Given the description of an element on the screen output the (x, y) to click on. 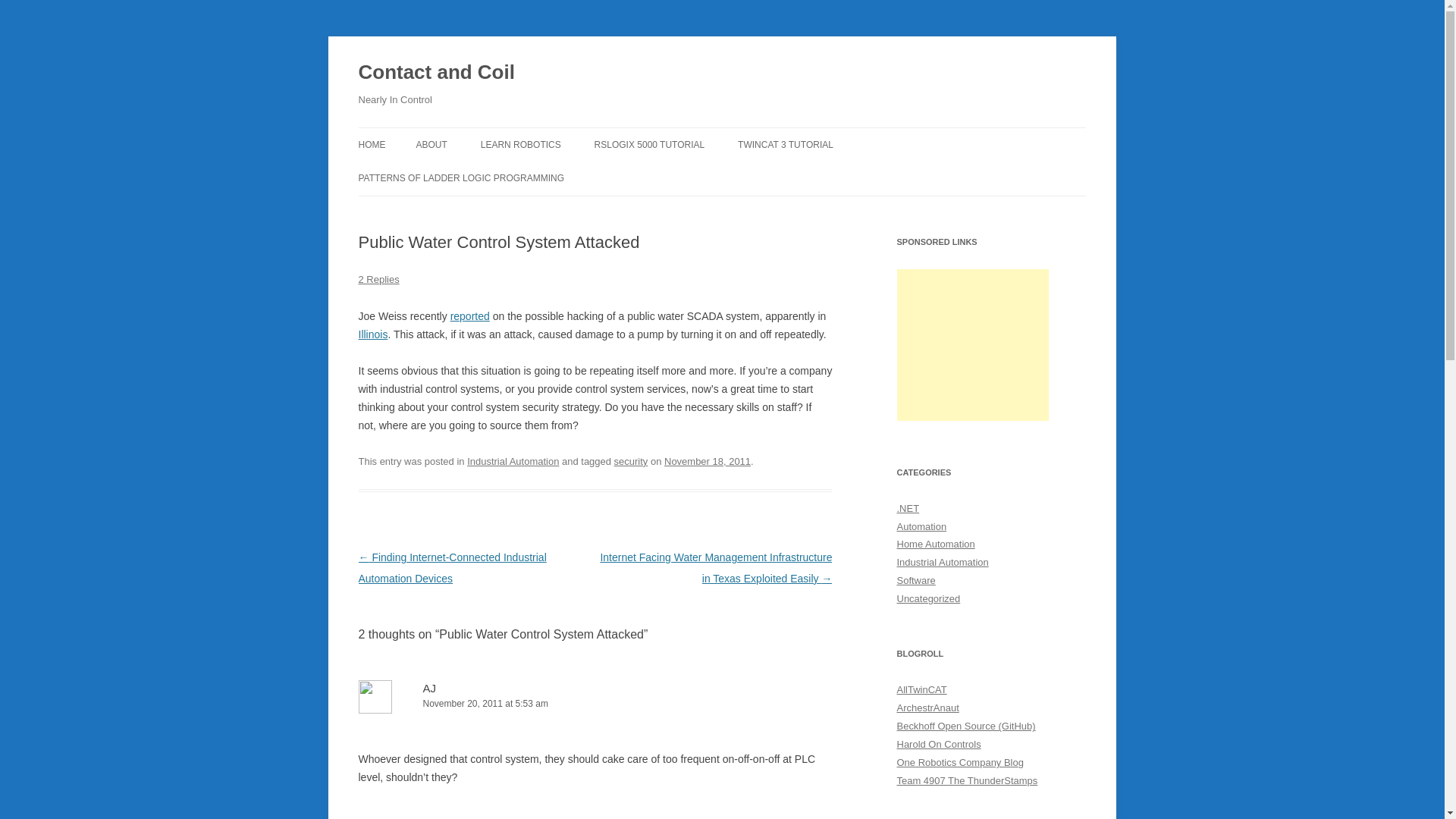
LEARN ROBOTICS (520, 144)
TWINCAT 3 TUTORIAL (785, 144)
PATTERNS OF LADDER LOGIC PROGRAMMING (461, 177)
RSLOGIX 5000 TUTORIAL (649, 144)
ABOUT (430, 144)
Contact and Coil (435, 72)
TWINCAT 3 TUTORIAL: INTRODUCTION (813, 185)
FANUC Robot Programming and Consulting (959, 762)
FIRST Robotics Competition Team from St. Thomas, Ontario (966, 780)
10:57 pm (707, 460)
SEALED IN COIL (433, 210)
Contact and Coil (435, 72)
The TwinCAT Development Blog (921, 689)
